Given the description of an element on the screen output the (x, y) to click on. 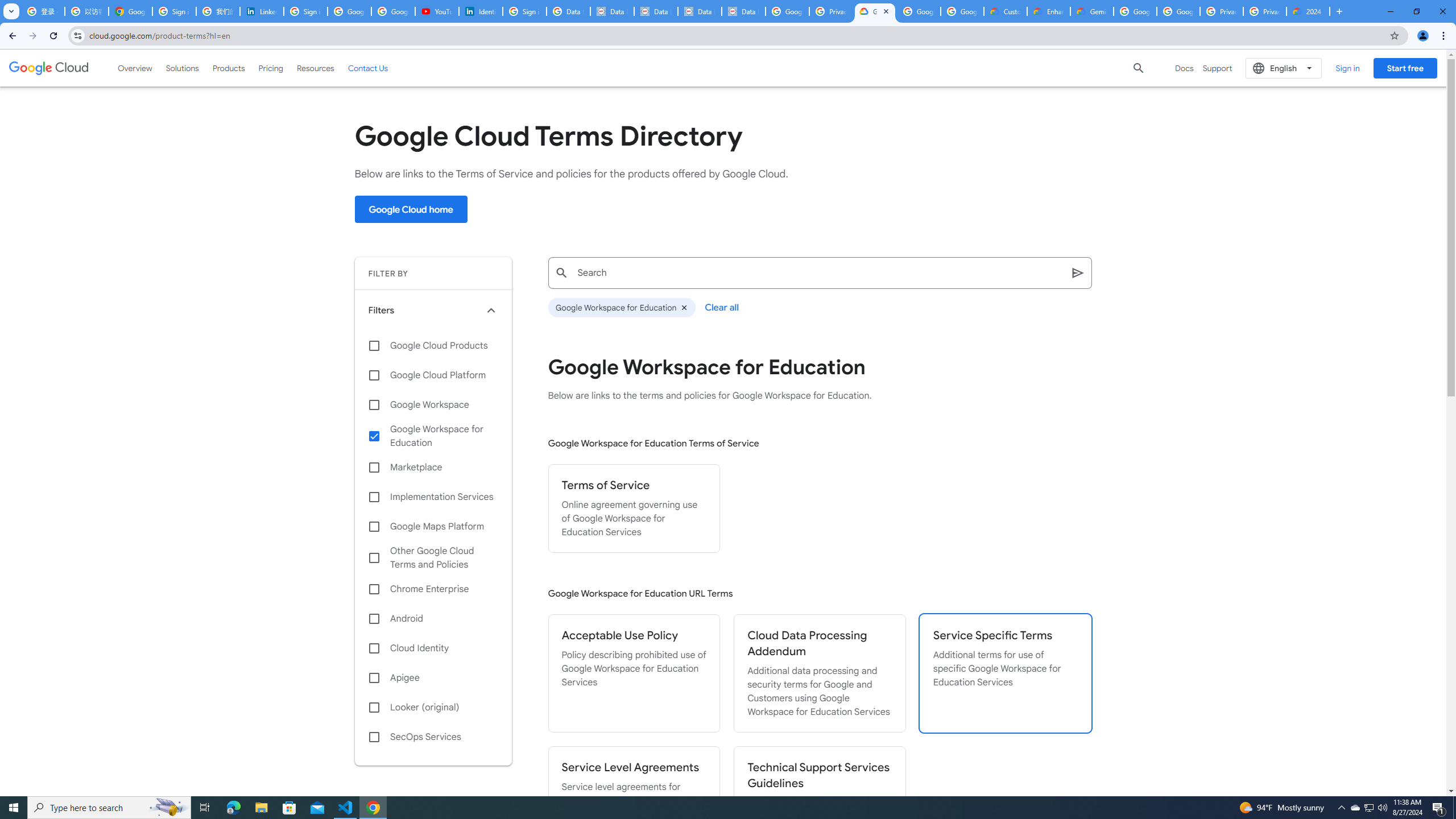
Resources (314, 67)
Start free (1405, 67)
Data Privacy Framework (655, 11)
Contact Us (368, 67)
LinkedIn Privacy Policy (261, 11)
Google Cloud Terms Directory | Google Cloud (874, 11)
Data Privacy Framework (612, 11)
Cloud Identity (432, 648)
Marketplace (432, 467)
